Given the description of an element on the screen output the (x, y) to click on. 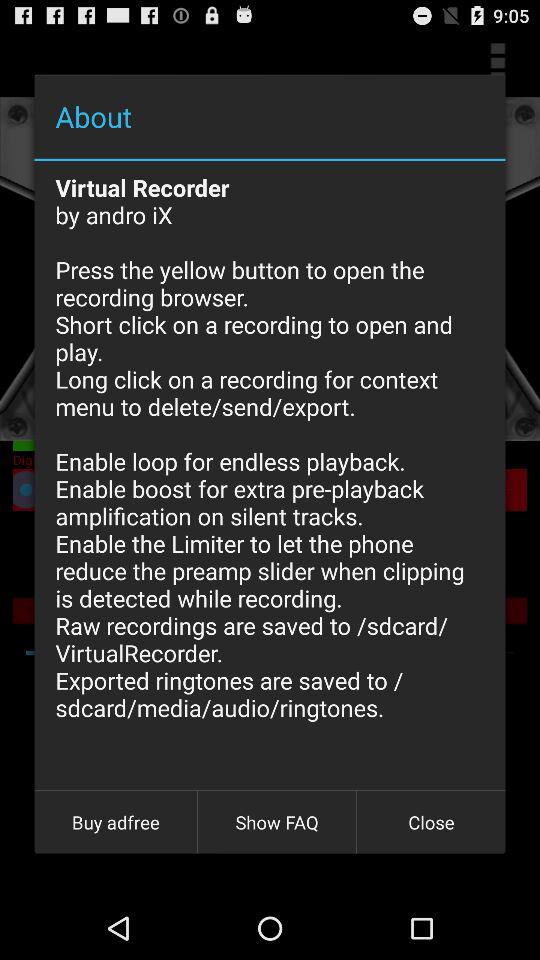
scroll until show faq icon (277, 821)
